Given the description of an element on the screen output the (x, y) to click on. 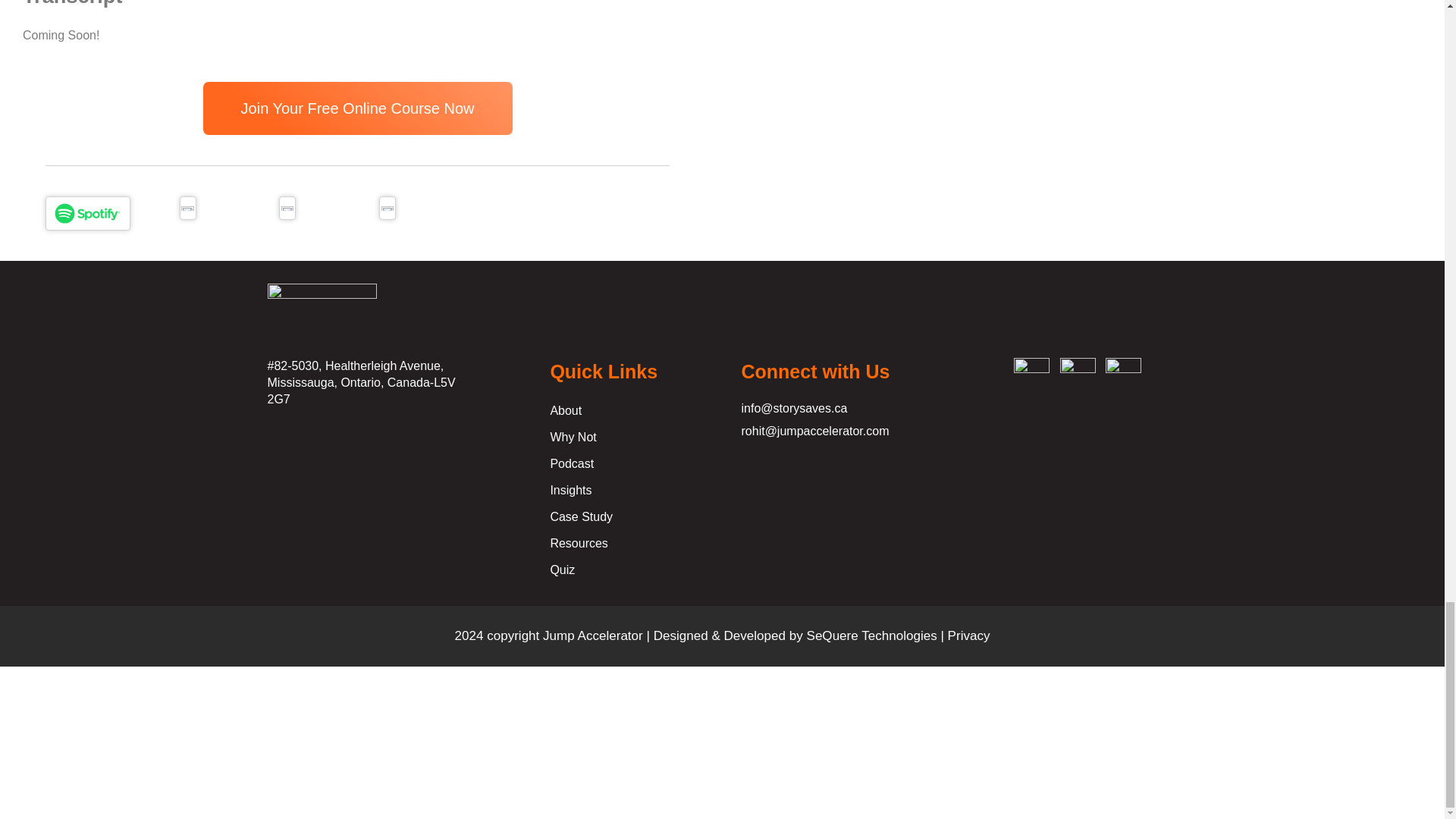
Join Your Free Online Course Now (357, 108)
